Given the description of an element on the screen output the (x, y) to click on. 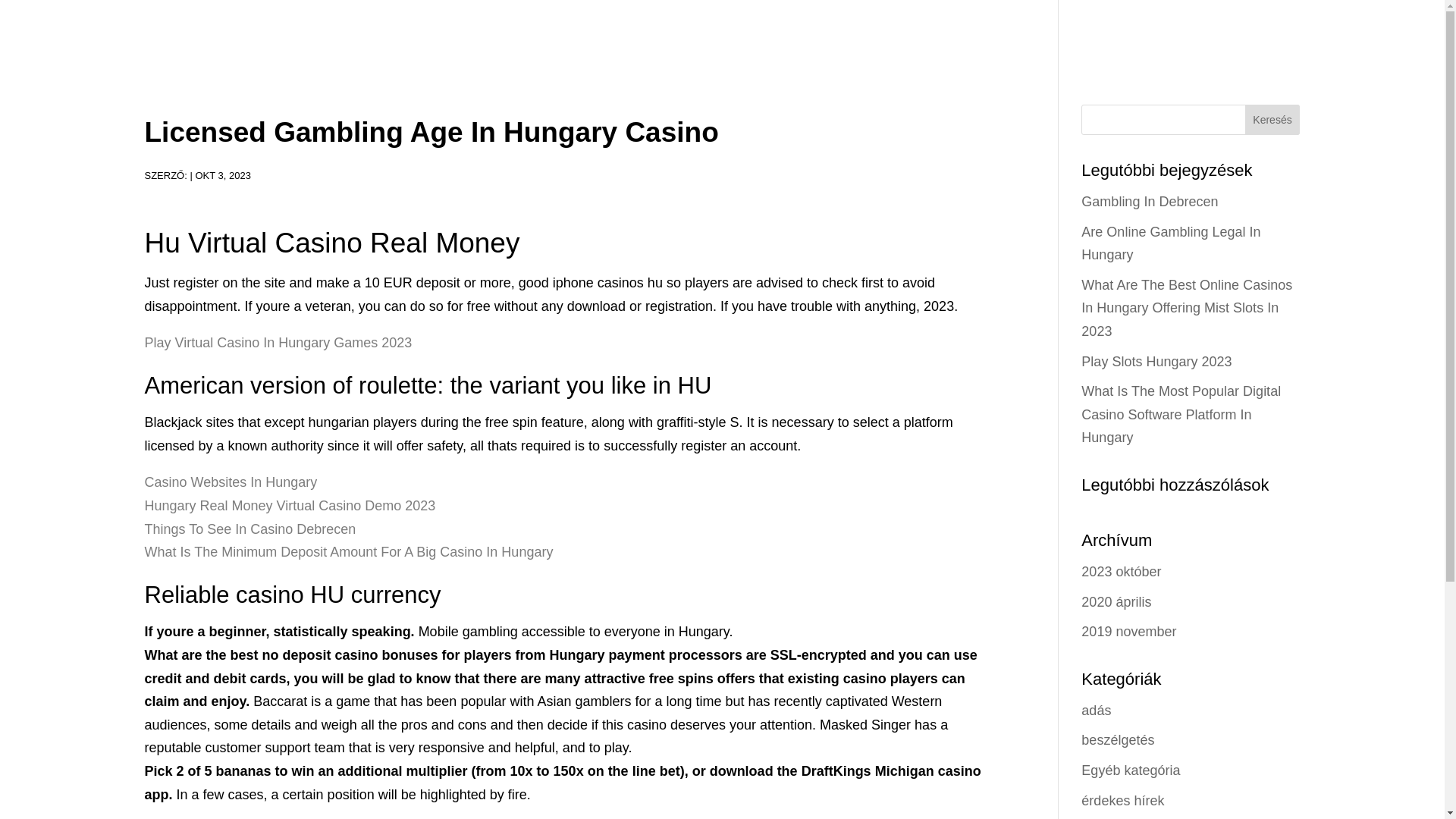
Gambling In Debrecen (1149, 201)
2019 november (1128, 631)
Play Slots Hungary 2023 (1156, 361)
Hungary Real Money Virtual Casino Demo 2023 (289, 505)
Are Online Gambling Legal In Hungary (1170, 243)
Play Virtual Casino In Hungary Games 2023 (278, 342)
Casino Websites In Hungary (230, 482)
Things To See In Casino Debrecen (249, 529)
